Given the description of an element on the screen output the (x, y) to click on. 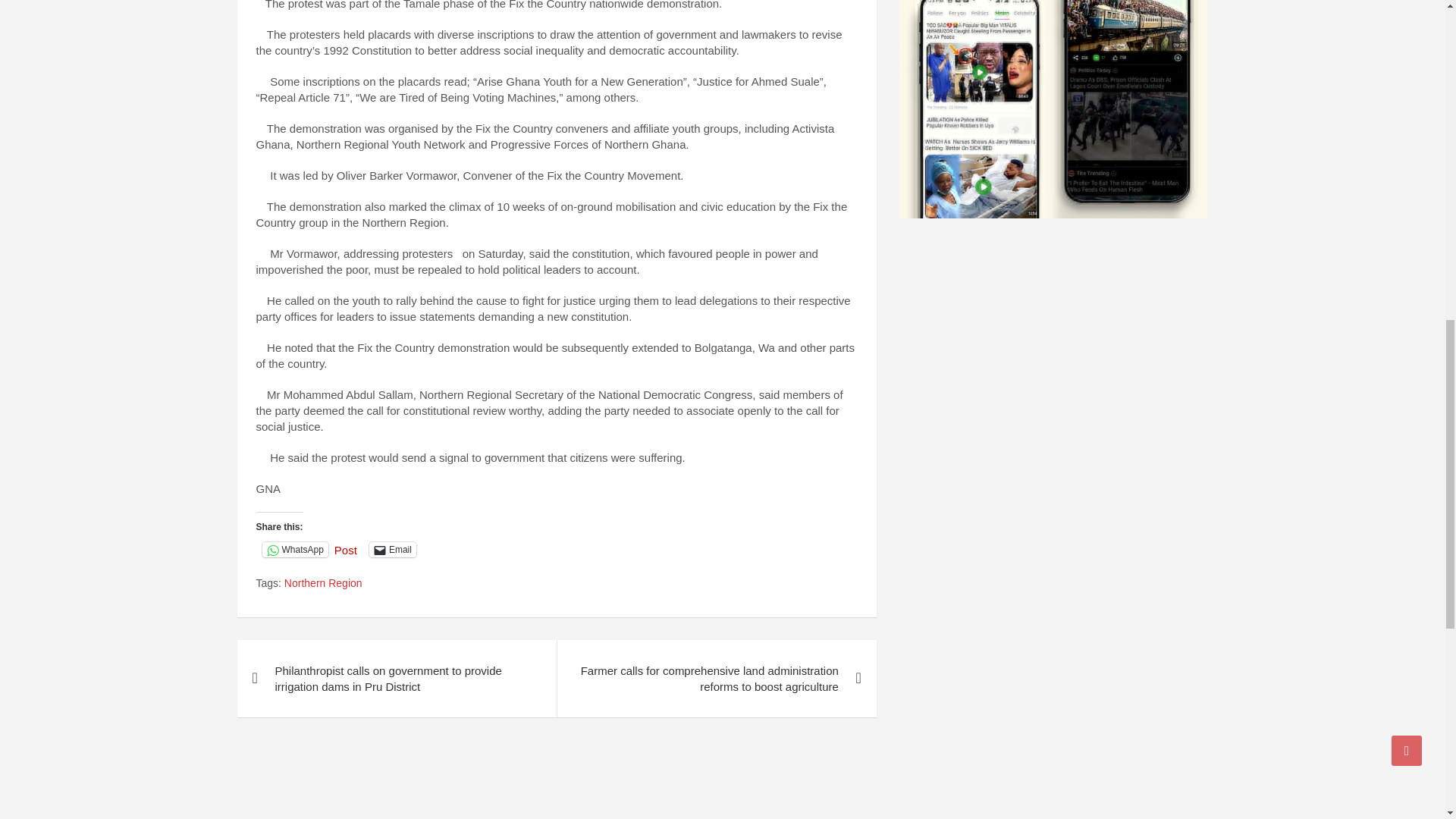
Click to email a link to a friend (392, 549)
Advertisement (556, 779)
Click to share on WhatsApp (295, 549)
